Given the description of an element on the screen output the (x, y) to click on. 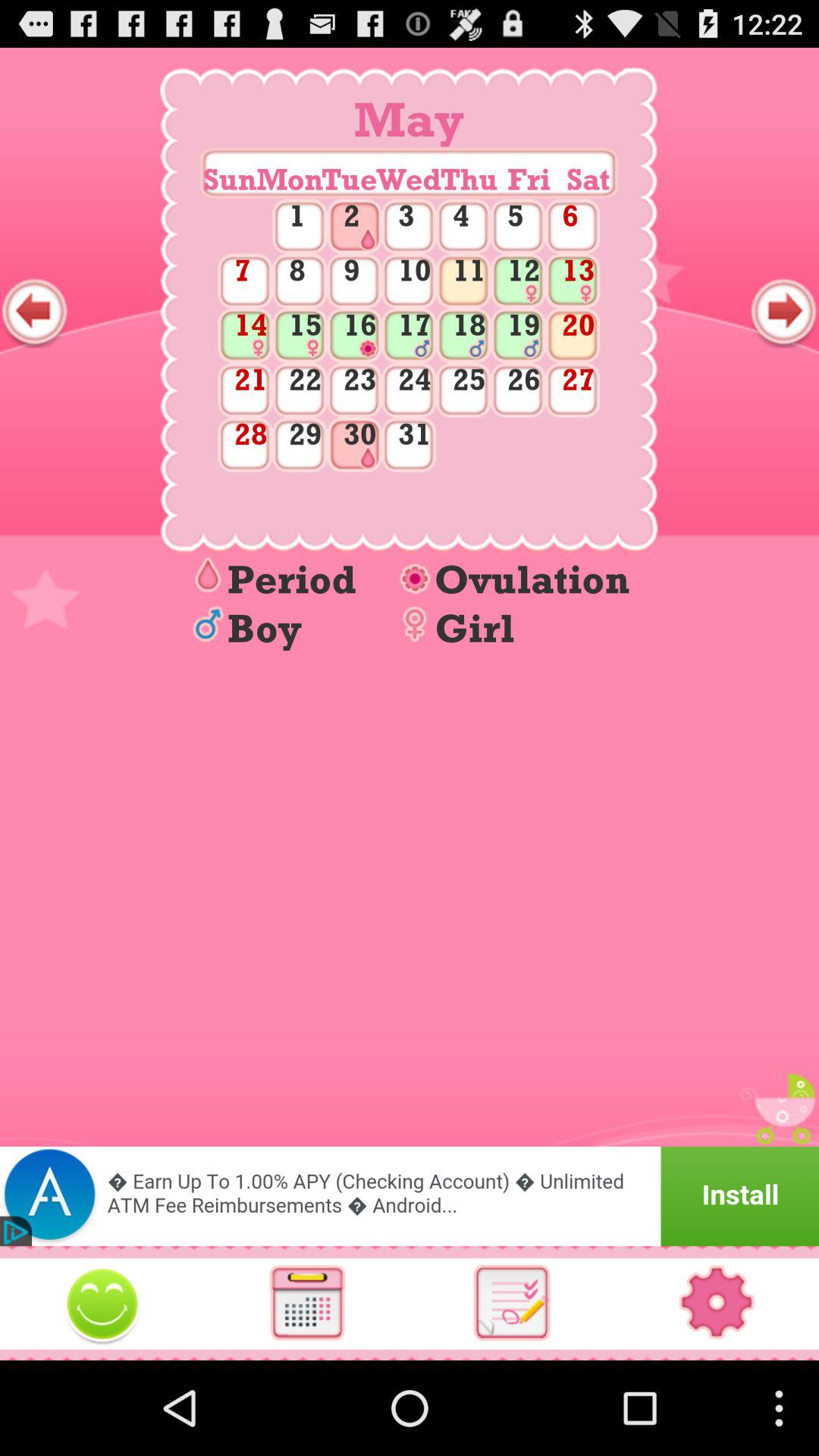
list of data (511, 1302)
